Given the description of an element on the screen output the (x, y) to click on. 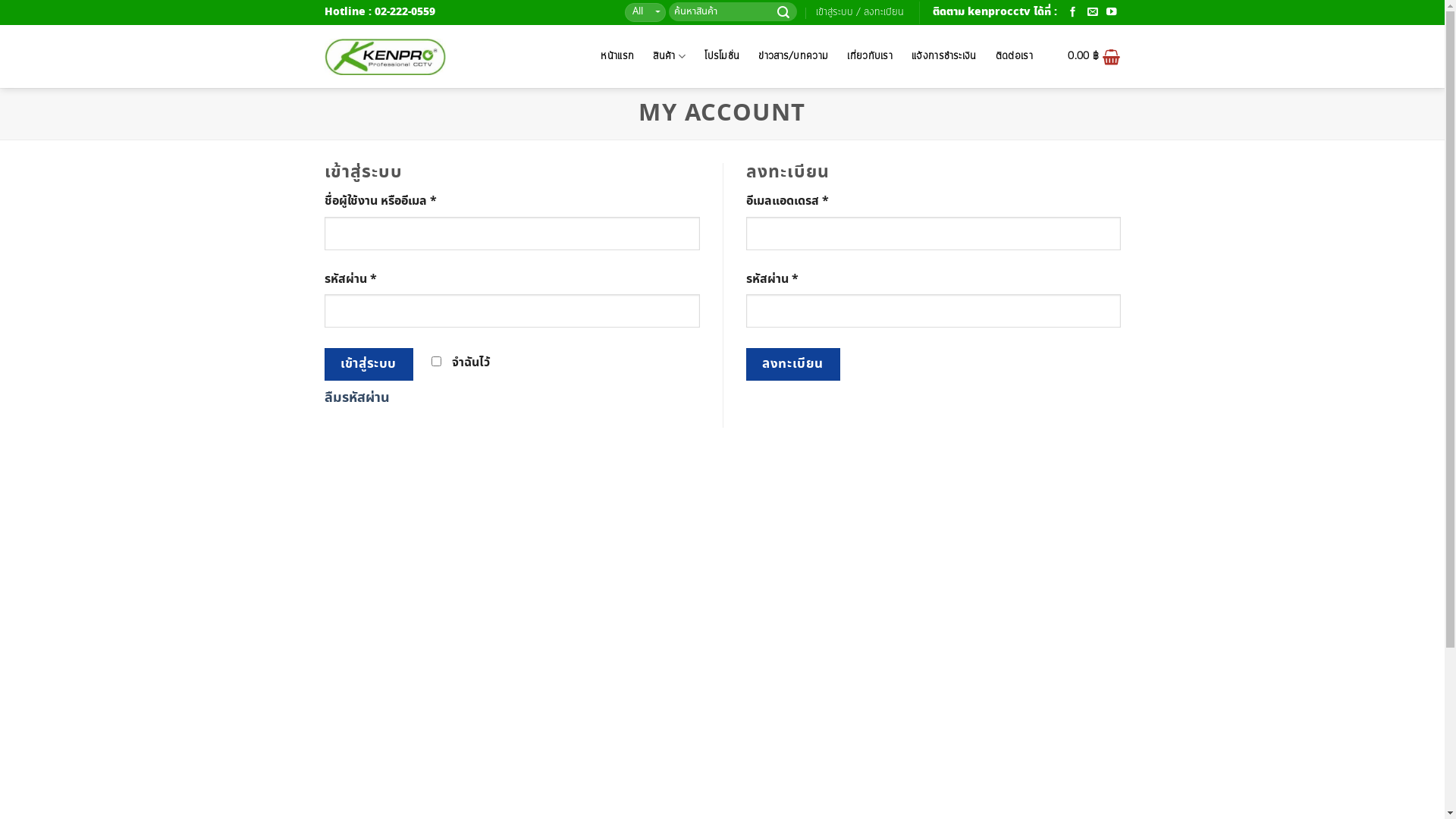
108CCTVOnline -  Element type: hover (384, 56)
